Given the description of an element on the screen output the (x, y) to click on. 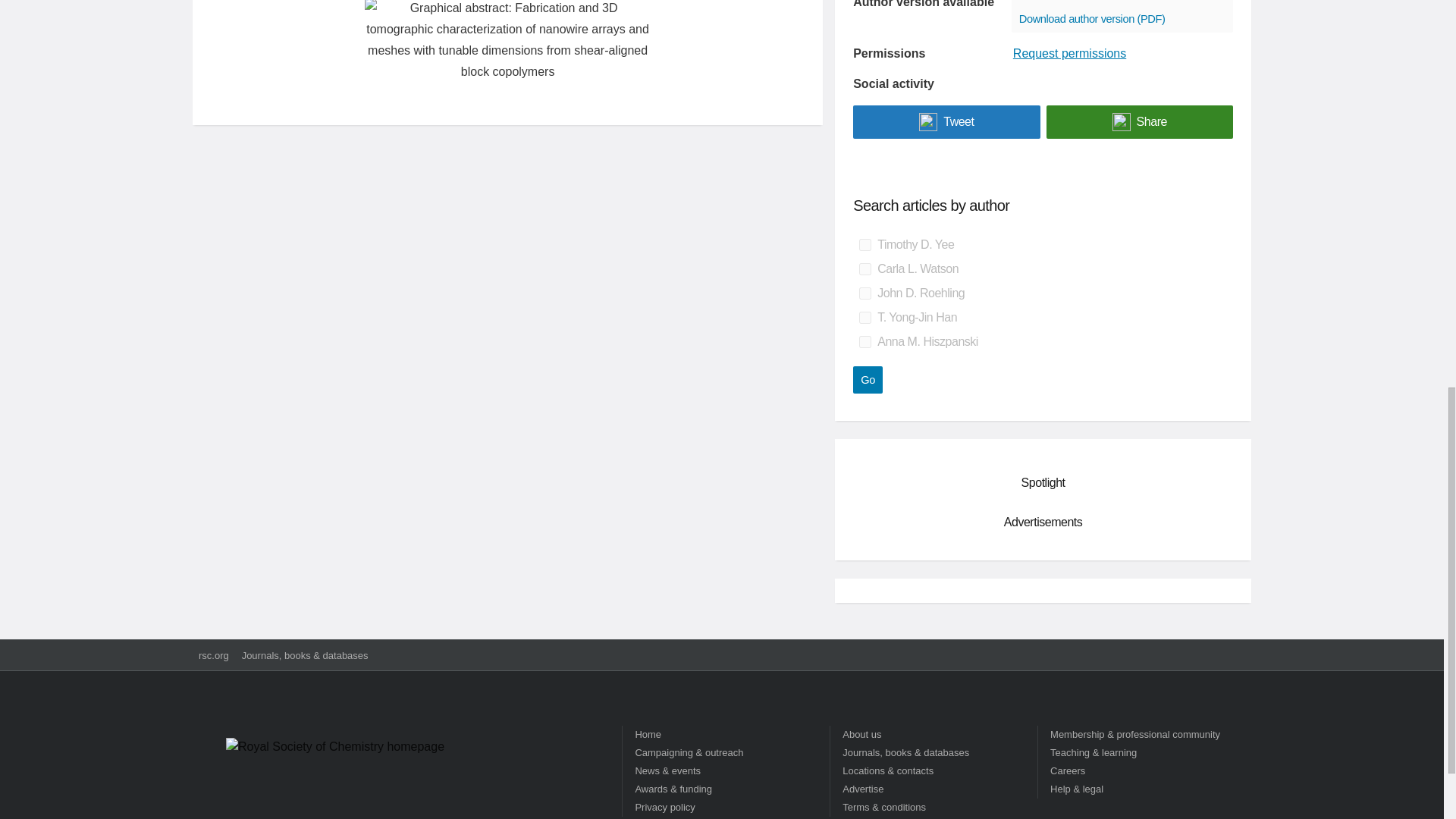
Go (867, 379)
on (864, 293)
Go (867, 379)
on (864, 268)
on (864, 341)
on (864, 317)
on (864, 244)
